Given the description of an element on the screen output the (x, y) to click on. 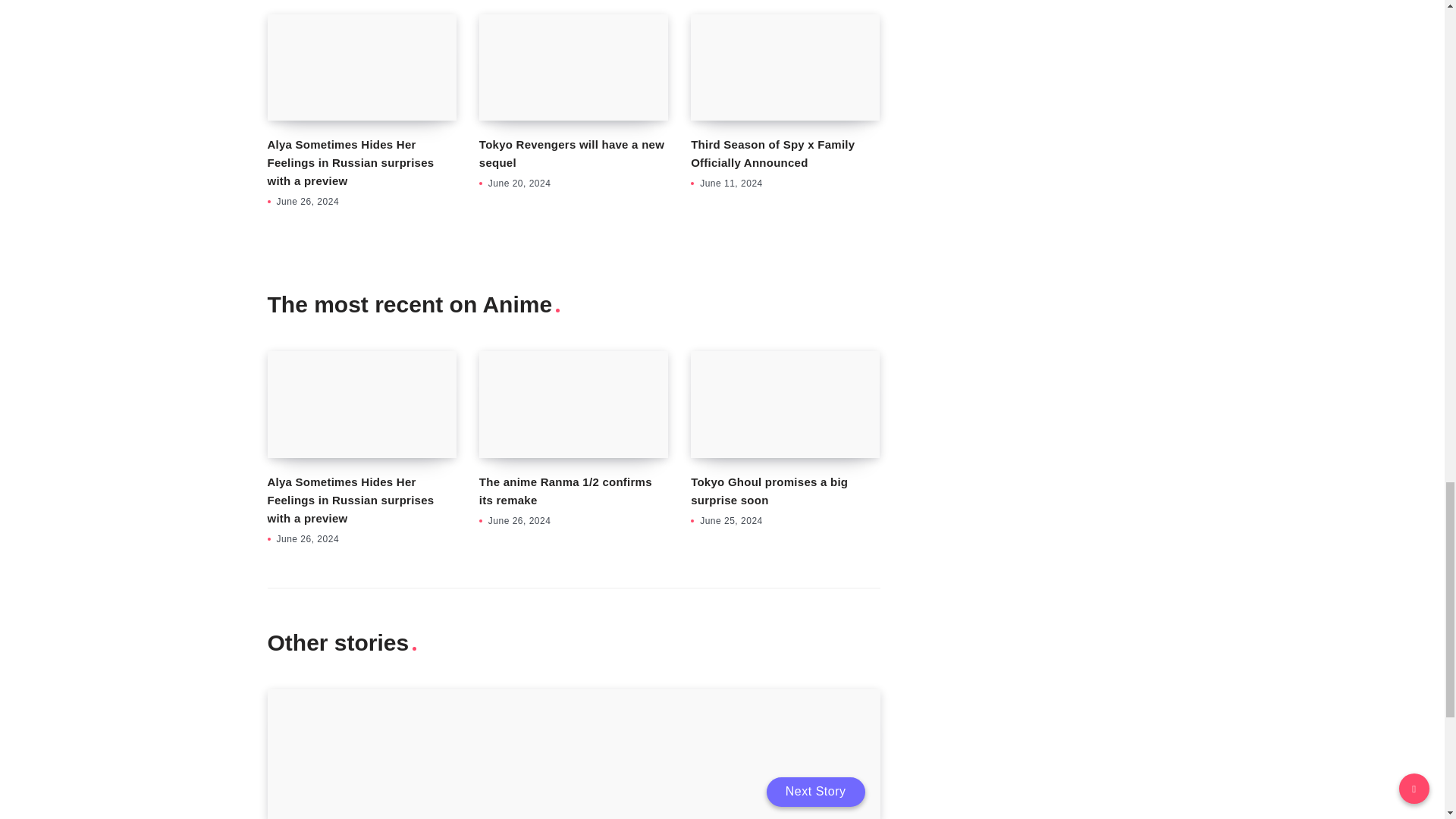
Tokyo Ghoul promises a big surprise soon (784, 404)
Third Season of Spy x Family Officially Announced (784, 67)
Tokyo Revengers will have a new sequel (573, 67)
